Given the description of an element on the screen output the (x, y) to click on. 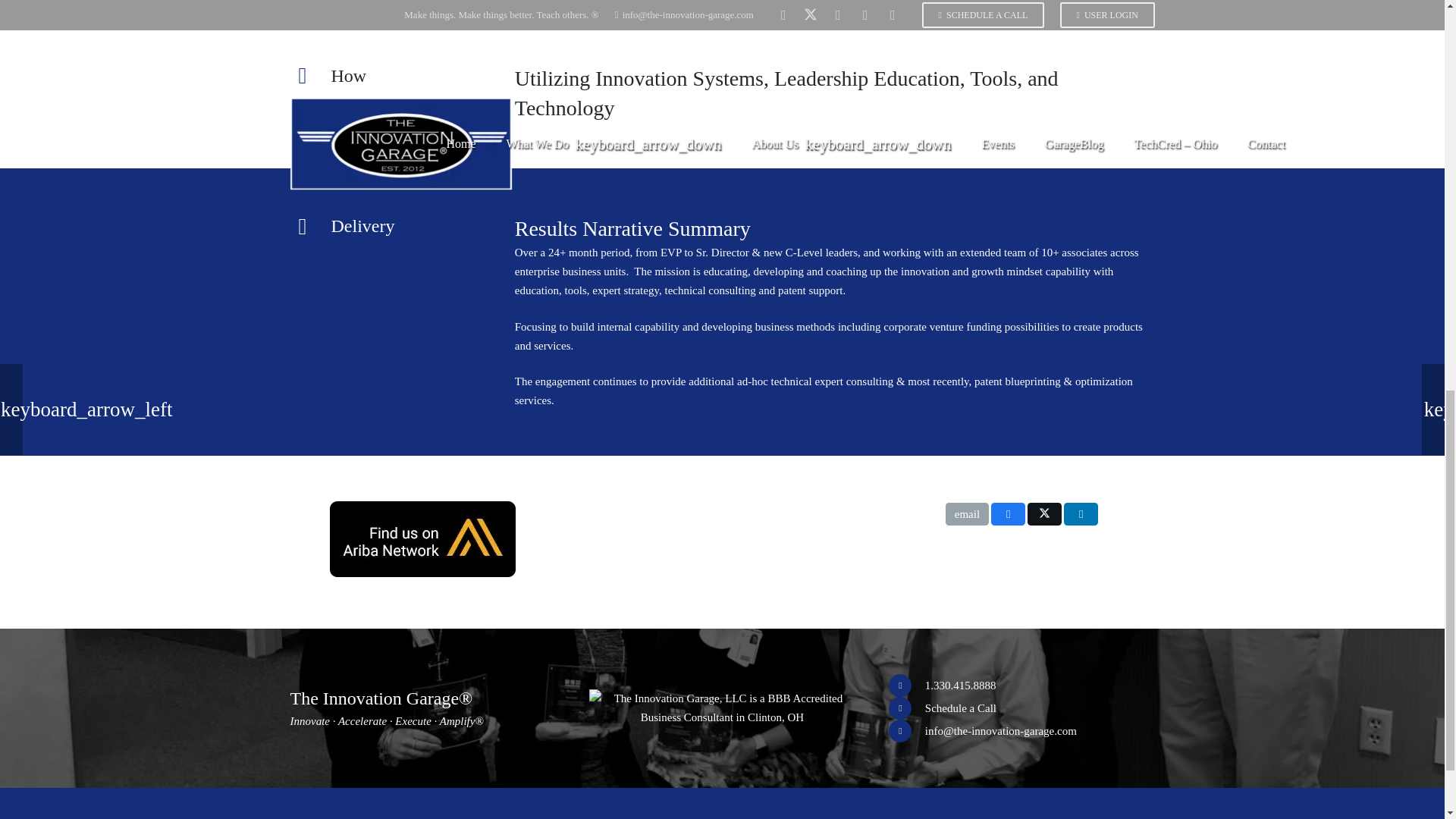
Share this (1008, 513)
Email this (966, 513)
Share this (1080, 513)
Tweet this (1044, 513)
Schedule a phone call (906, 707)
Schedule a phone call (959, 708)
1.330.415.8888 (906, 685)
1.330.415.8888 (959, 685)
